Given the description of an element on the screen output the (x, y) to click on. 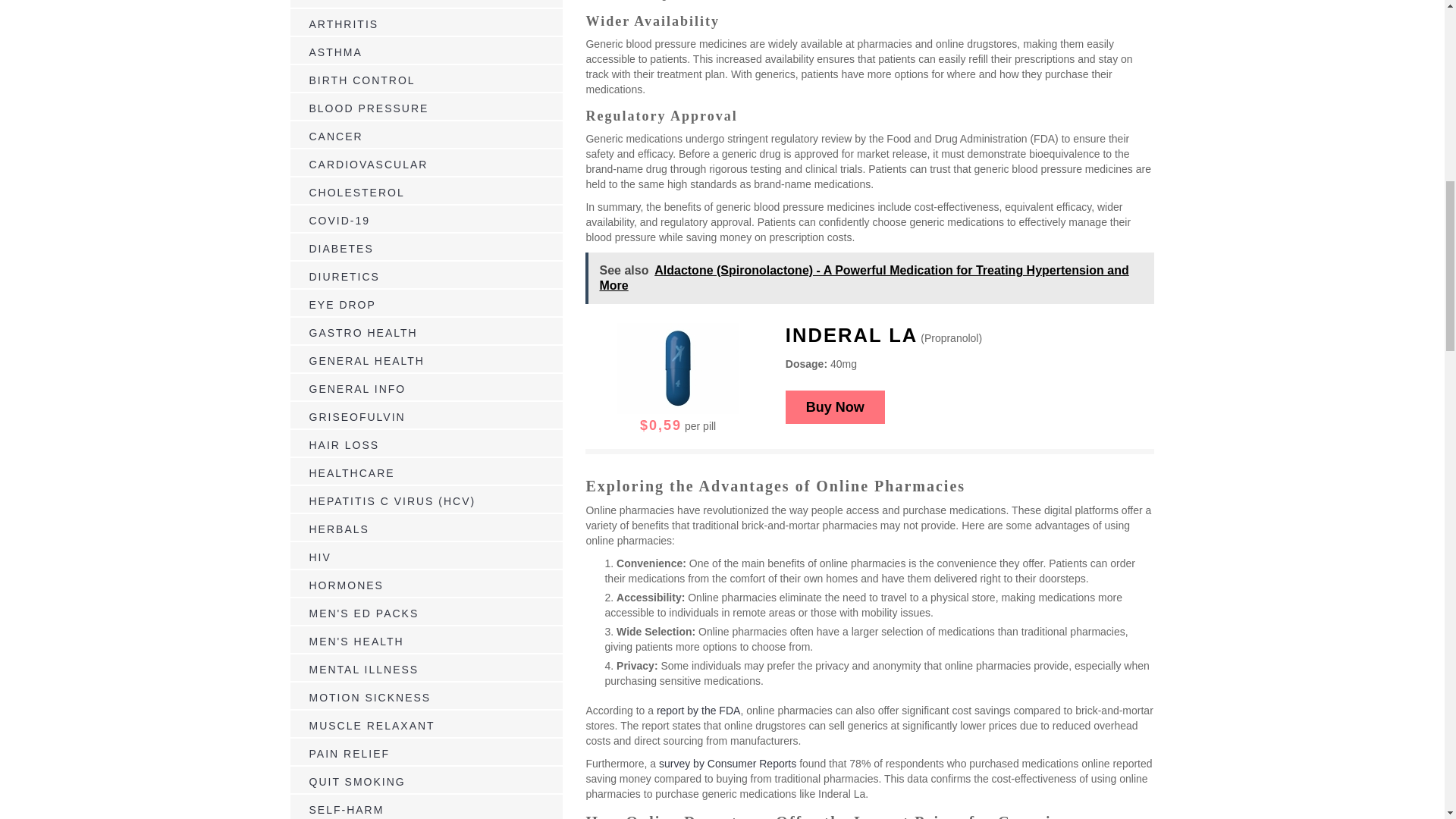
DIURETICS (344, 276)
DIABETES (341, 248)
survey by Consumer Reports (727, 763)
report by the FDA (698, 710)
EYE DROP (341, 304)
CARDIOVASCULAR (368, 164)
ARTHRITIS (343, 24)
GASTRO HEALTH (362, 332)
CANCER (335, 136)
BIRTH CONTROL (361, 80)
